Given the description of an element on the screen output the (x, y) to click on. 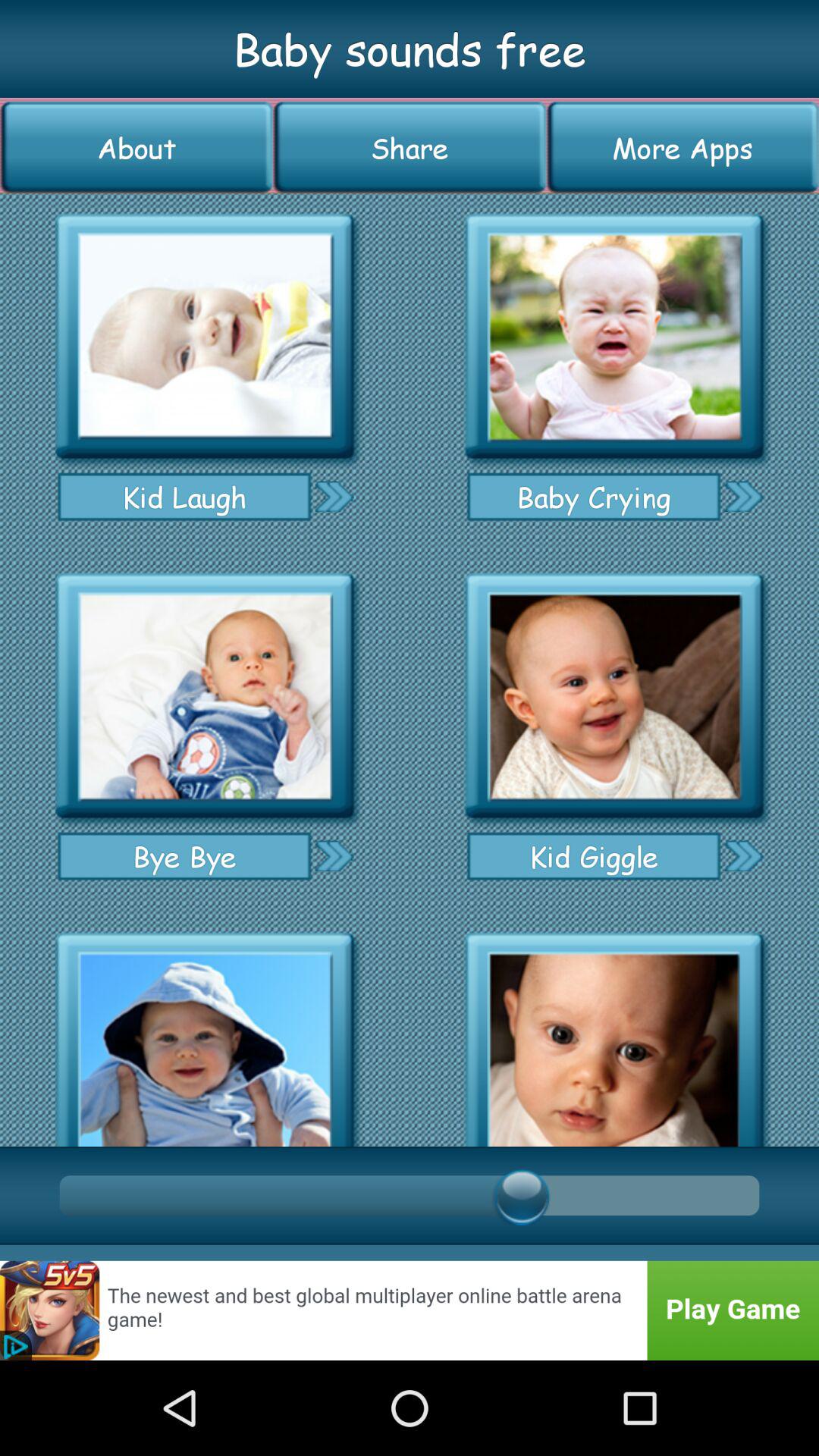
go to forward (743, 496)
